Given the description of an element on the screen output the (x, y) to click on. 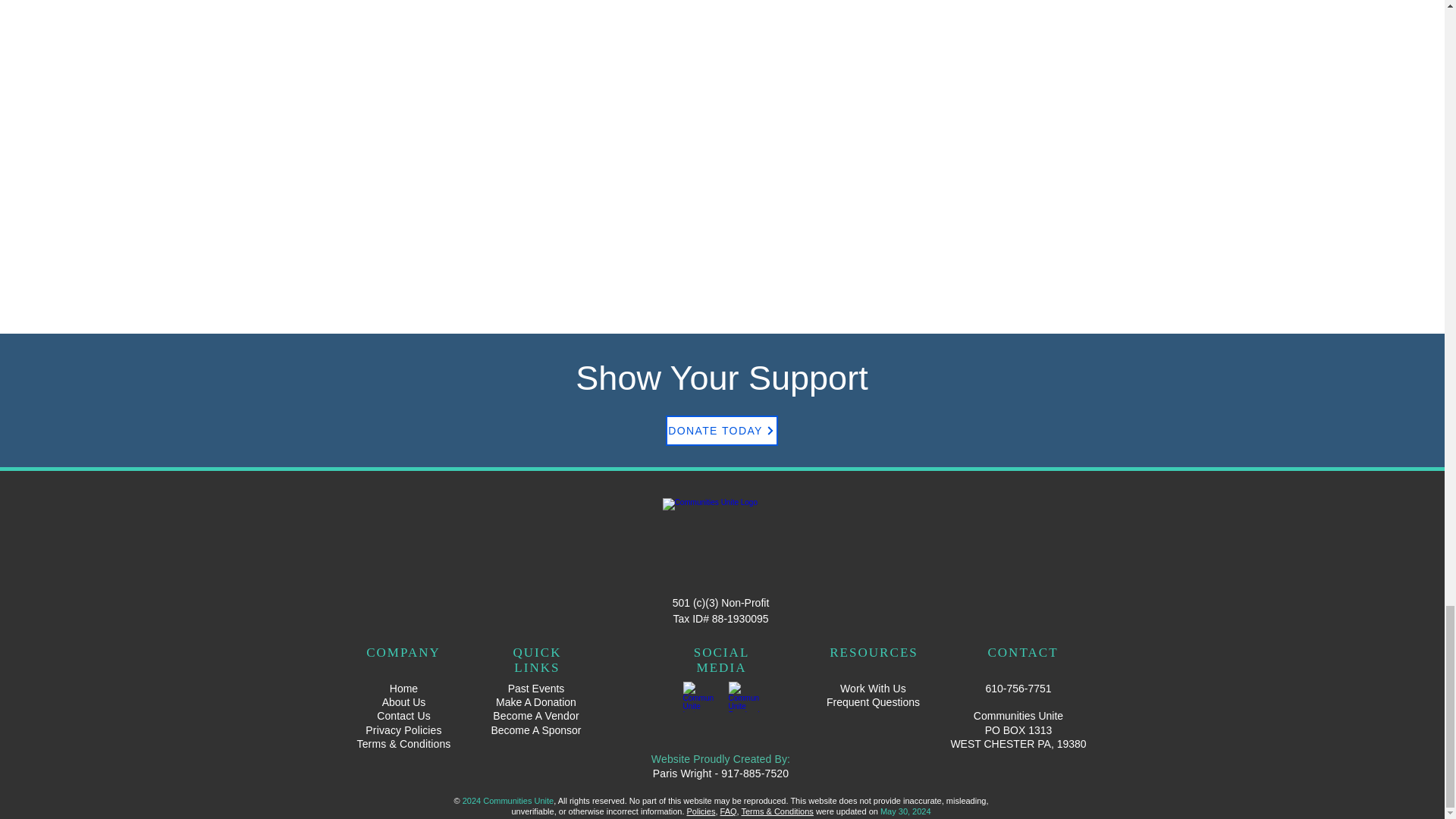
Privacy Policies (403, 729)
Home (403, 688)
Contact Us (403, 715)
About Us (403, 702)
DONATE TODAY (721, 430)
